Given the description of an element on the screen output the (x, y) to click on. 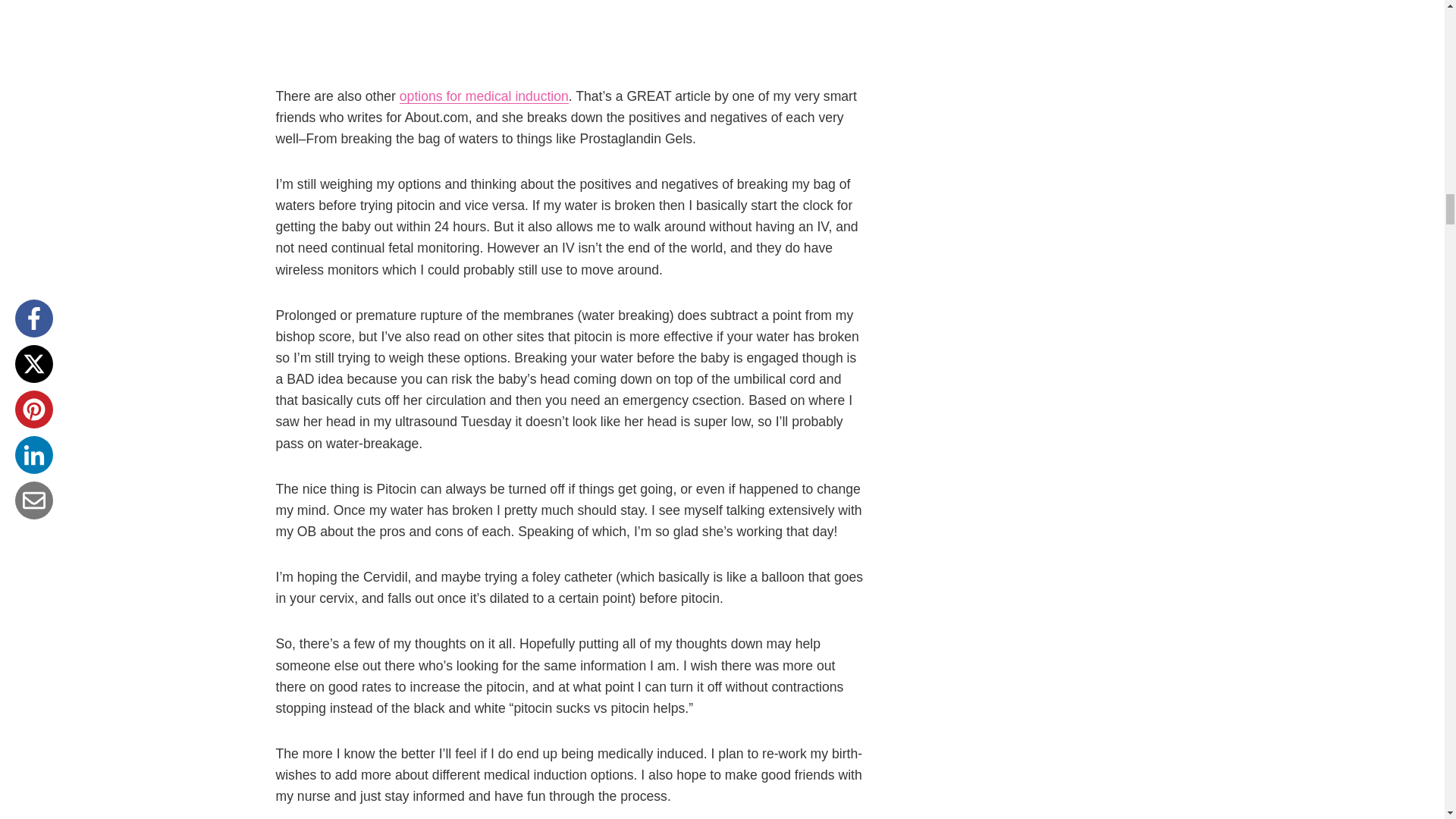
options for medical induction (483, 96)
